Given the description of an element on the screen output the (x, y) to click on. 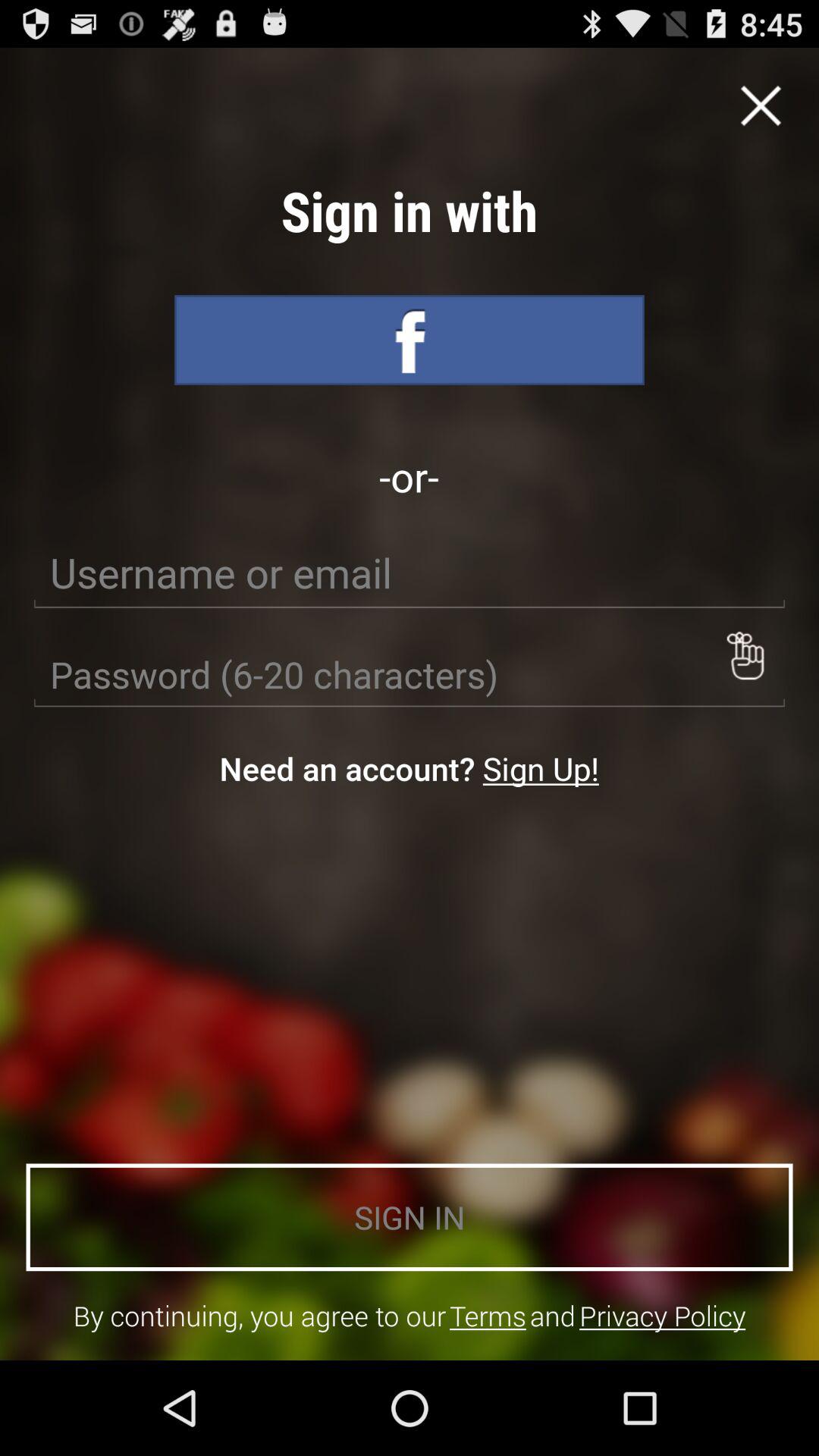
choose item next to the and item (662, 1315)
